Given the description of an element on the screen output the (x, y) to click on. 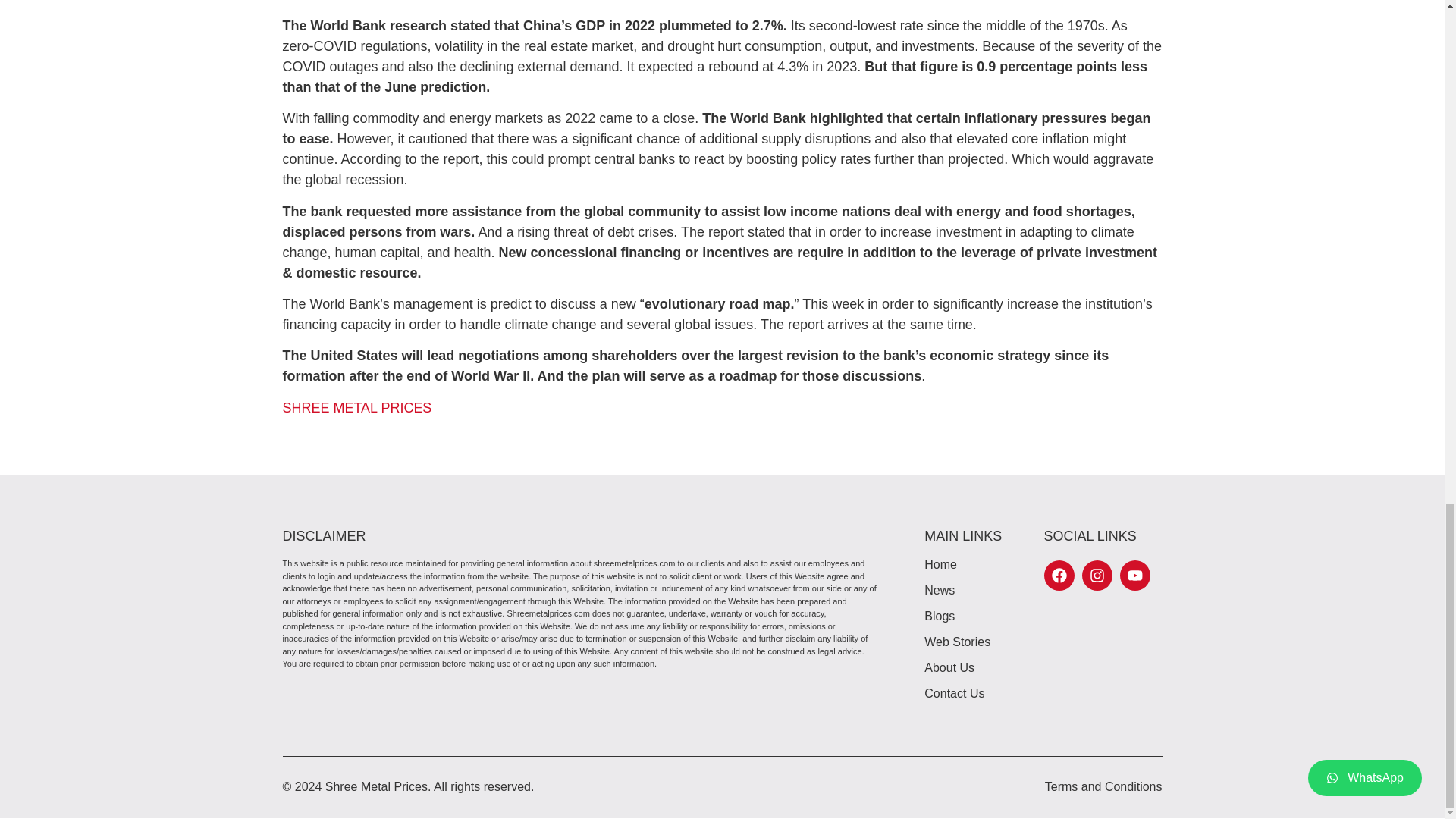
SHREE METAL PRICES (356, 407)
About Us (957, 668)
News (957, 590)
Home (957, 565)
Terms and Conditions (1103, 786)
Blogs (957, 616)
Web Stories (957, 642)
Contact Us (957, 693)
